Given the description of an element on the screen output the (x, y) to click on. 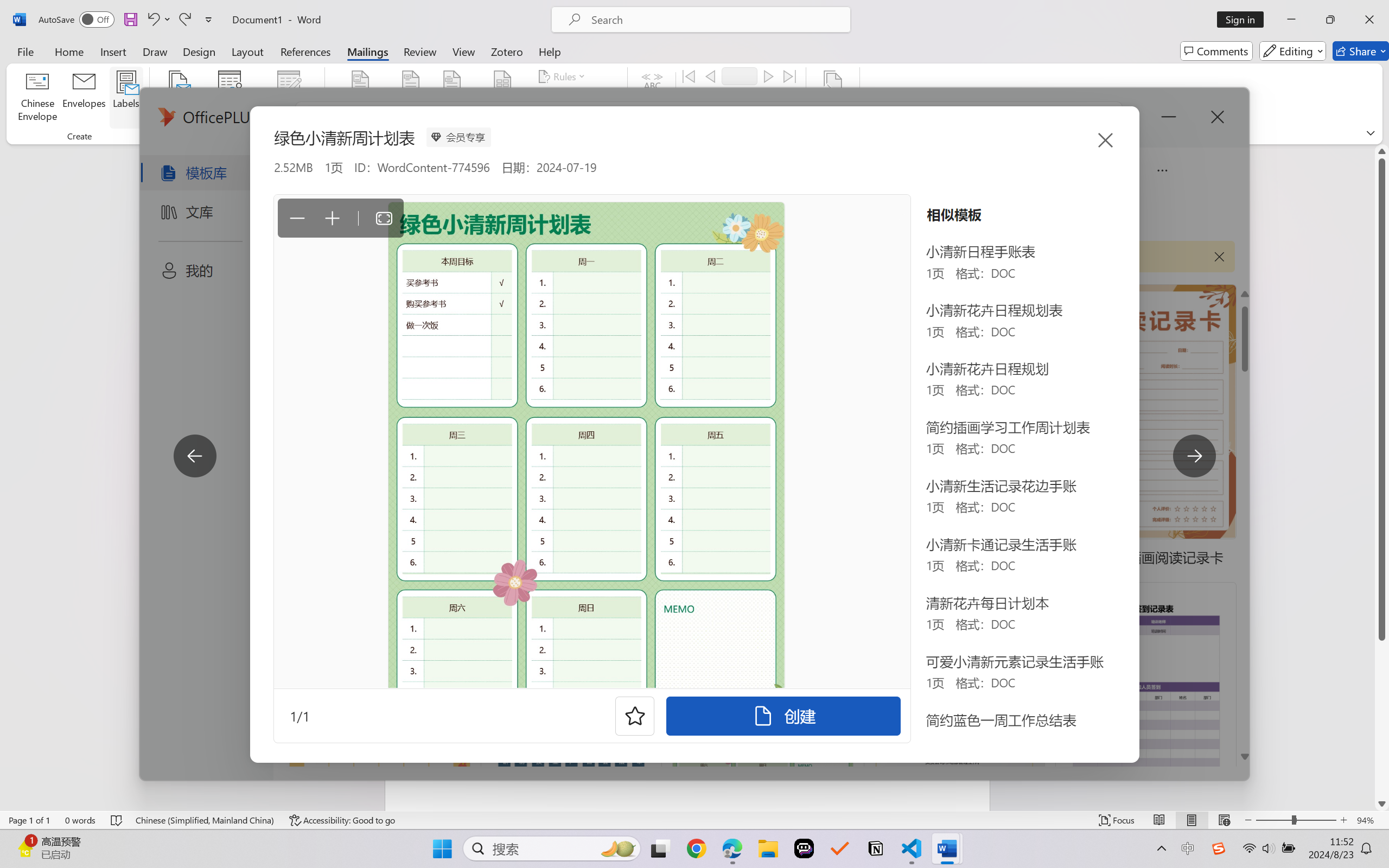
Update Labels (576, 118)
Editing (1292, 50)
Undo Apply Quick Style Set (158, 19)
Line down (1382, 803)
